Given the description of an element on the screen output the (x, y) to click on. 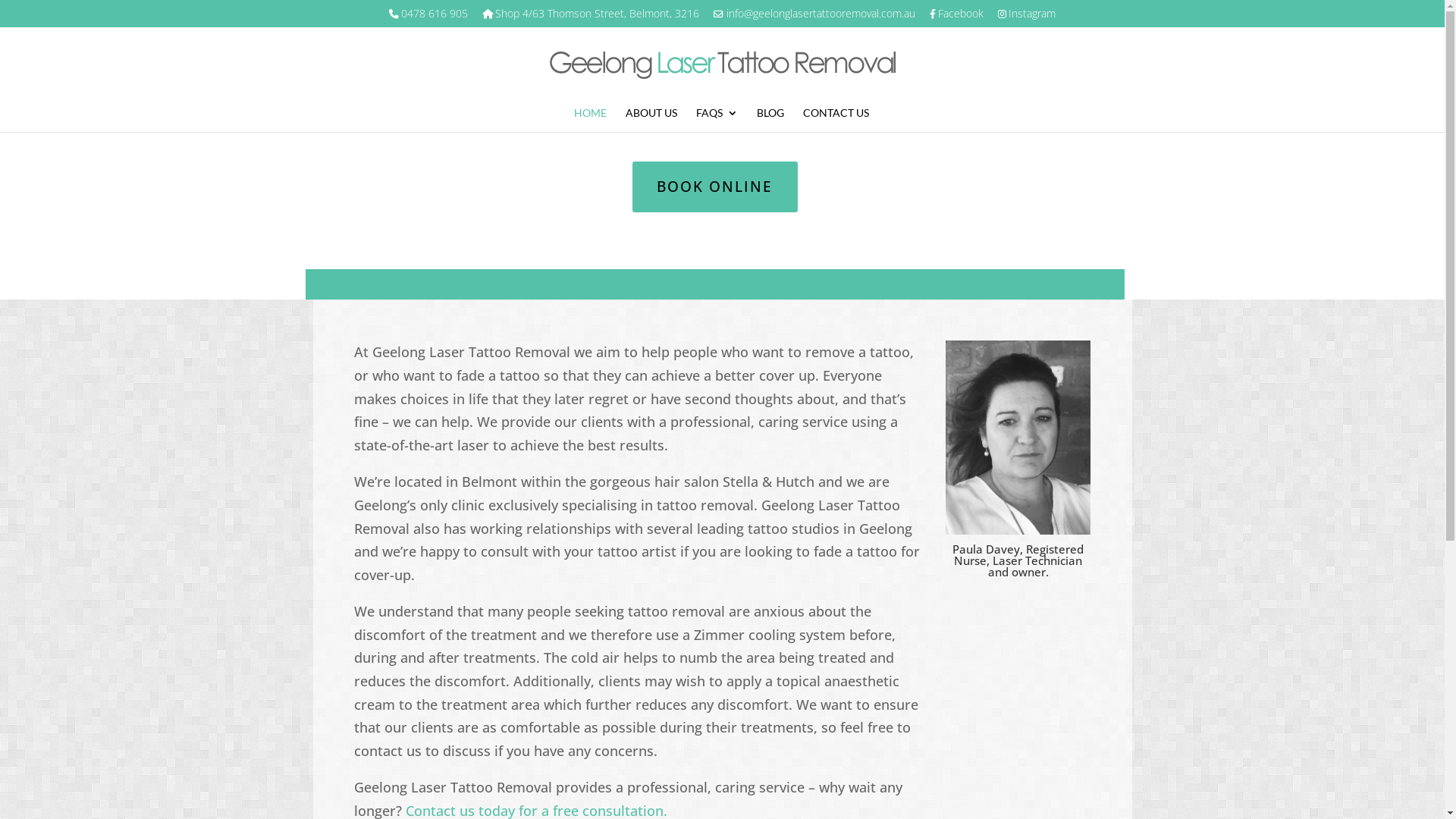
Facebook Element type: text (956, 16)
Shop 4/63 Thomson Street, Belmont, 3216 Element type: text (590, 16)
FAQS Element type: text (716, 119)
BLOG Element type: text (770, 119)
ABOUT US Element type: text (651, 119)
HOME Element type: text (590, 119)
0478 616 905 Element type: text (428, 16)
info@geelonglasertattooremoval.com.au Element type: text (813, 16)
CONTACT US Element type: text (836, 119)
BOOK ONLINE Element type: text (714, 186)
Instagram Element type: text (1026, 16)
